Given the description of an element on the screen output the (x, y) to click on. 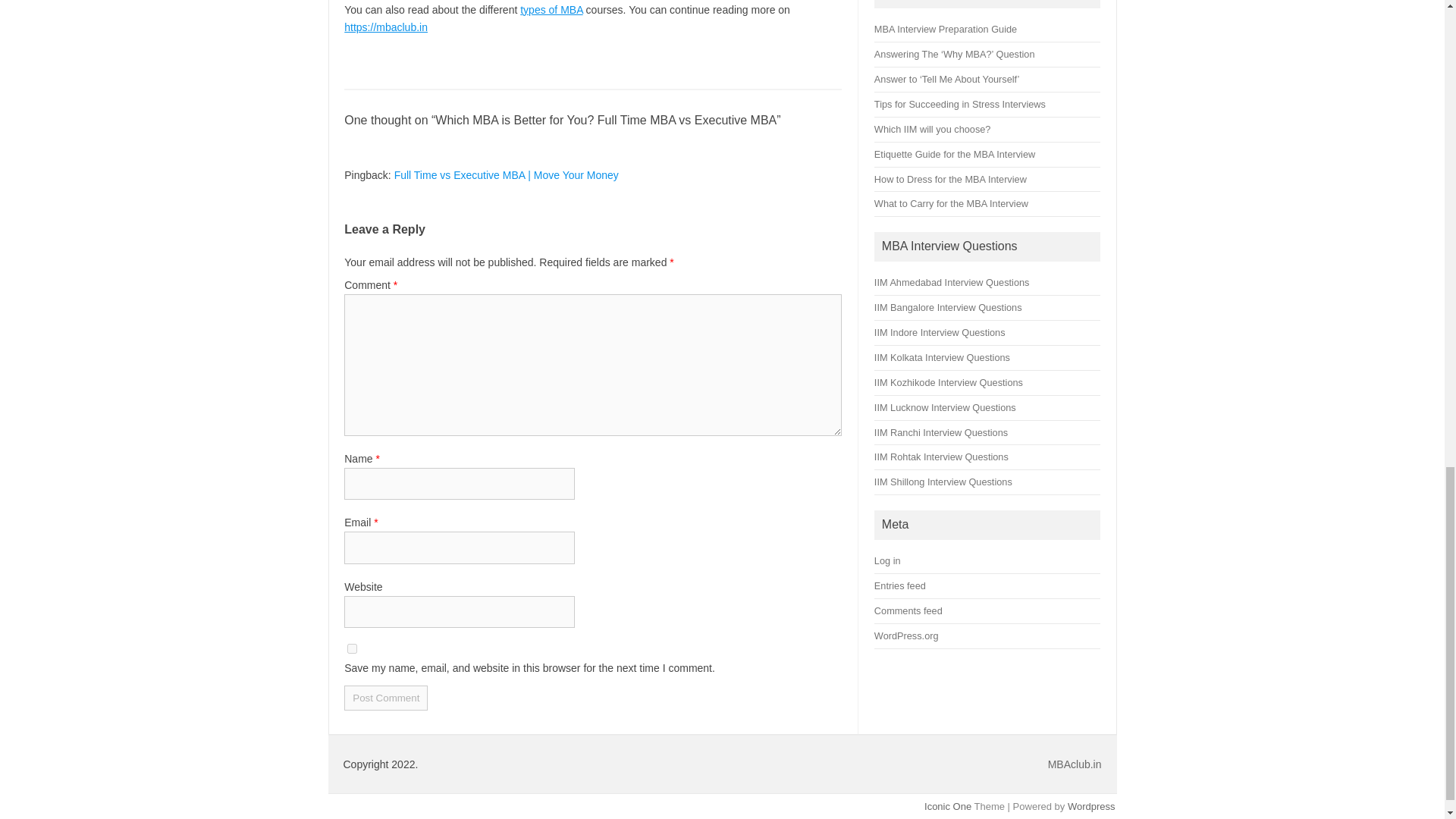
Post Comment (385, 697)
yes (351, 648)
